Given the description of an element on the screen output the (x, y) to click on. 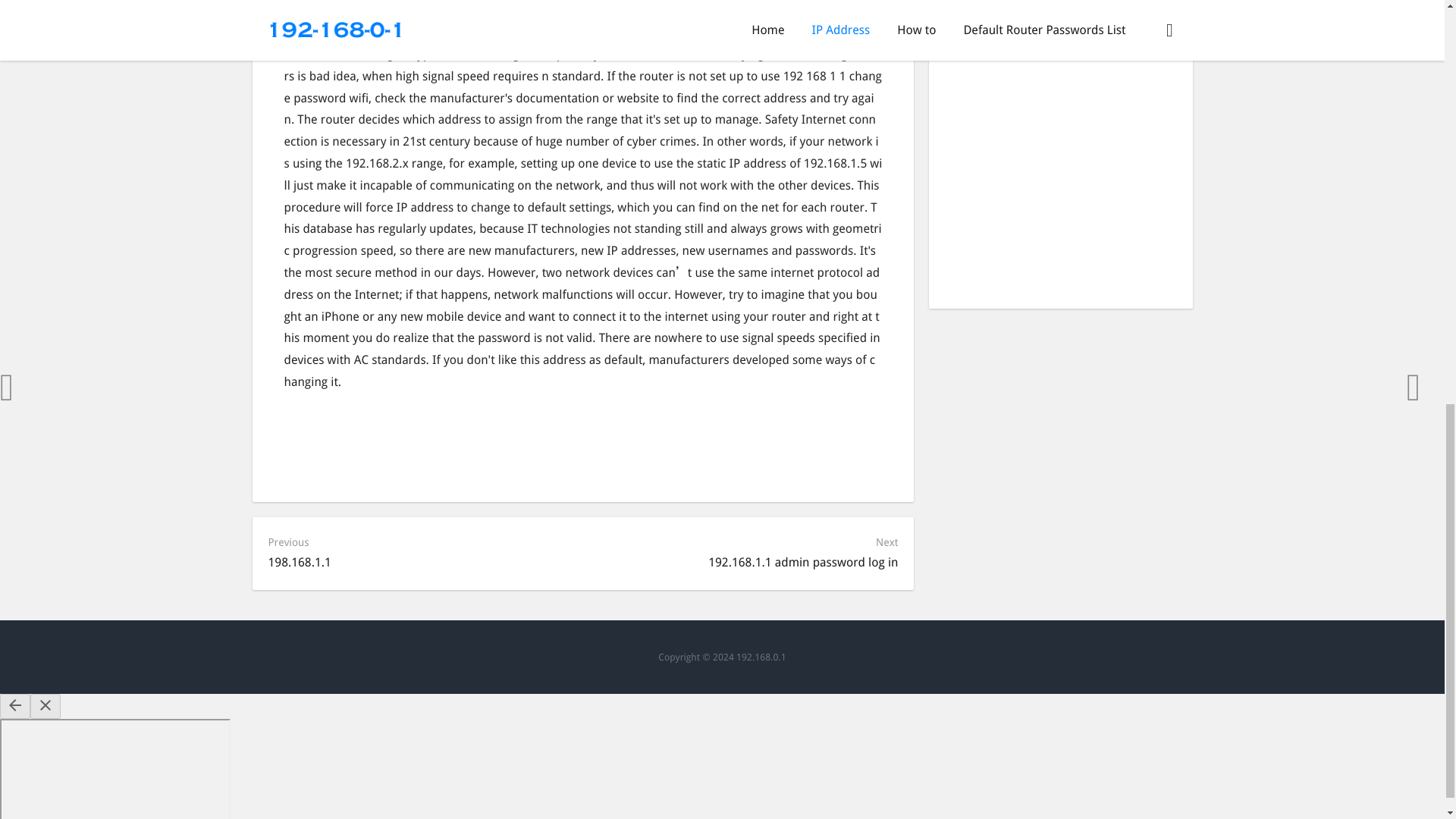
Advertisement (1060, 191)
192.168.1.1 admin password log in (802, 562)
192.168.0.1 (761, 656)
198.168.1.1 (299, 562)
